Given the description of an element on the screen output the (x, y) to click on. 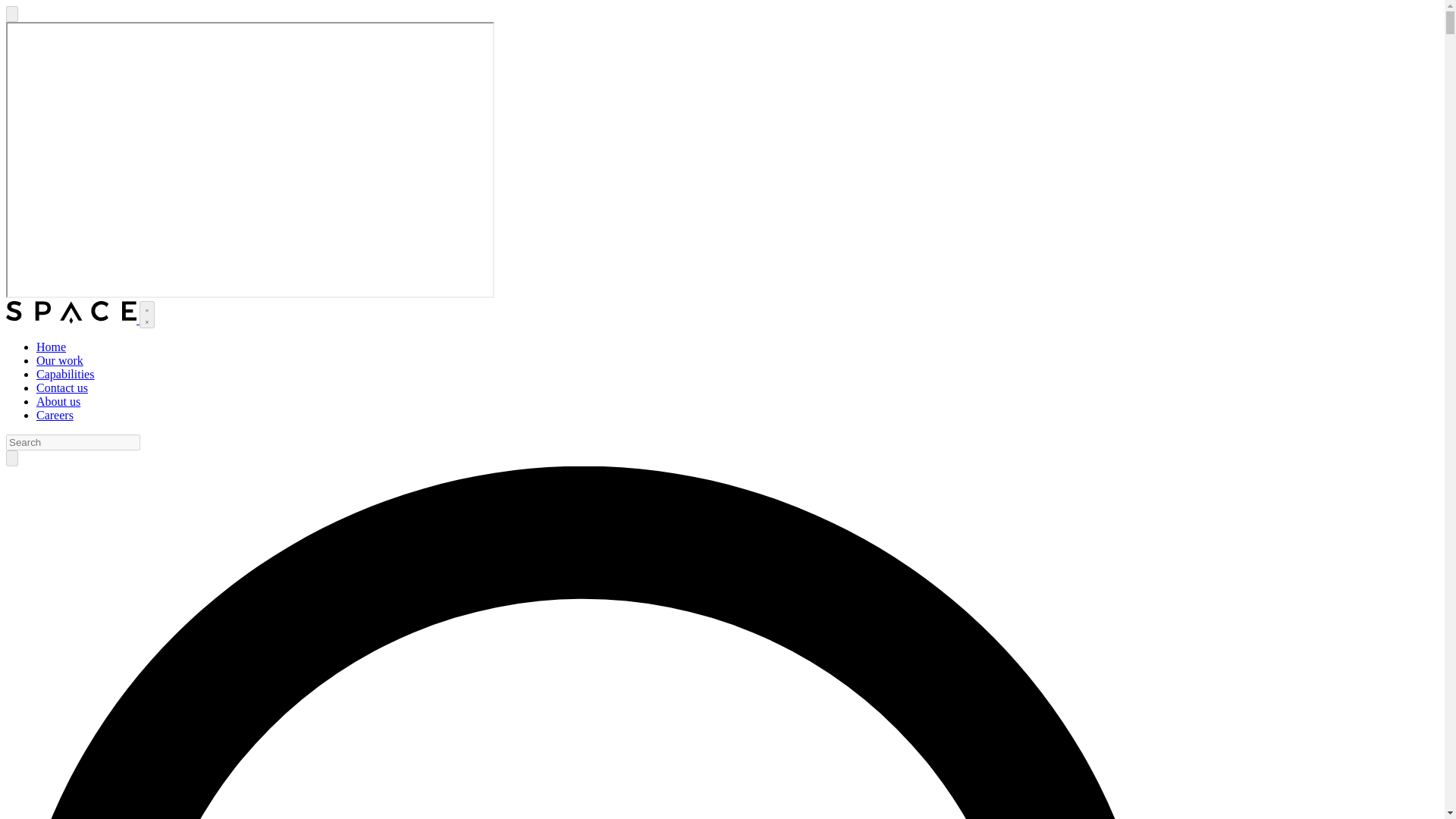
Our work (59, 359)
Capabilities (65, 373)
Home (50, 346)
About us (58, 400)
Careers (55, 414)
Contact us (61, 387)
